Given the description of an element on the screen output the (x, y) to click on. 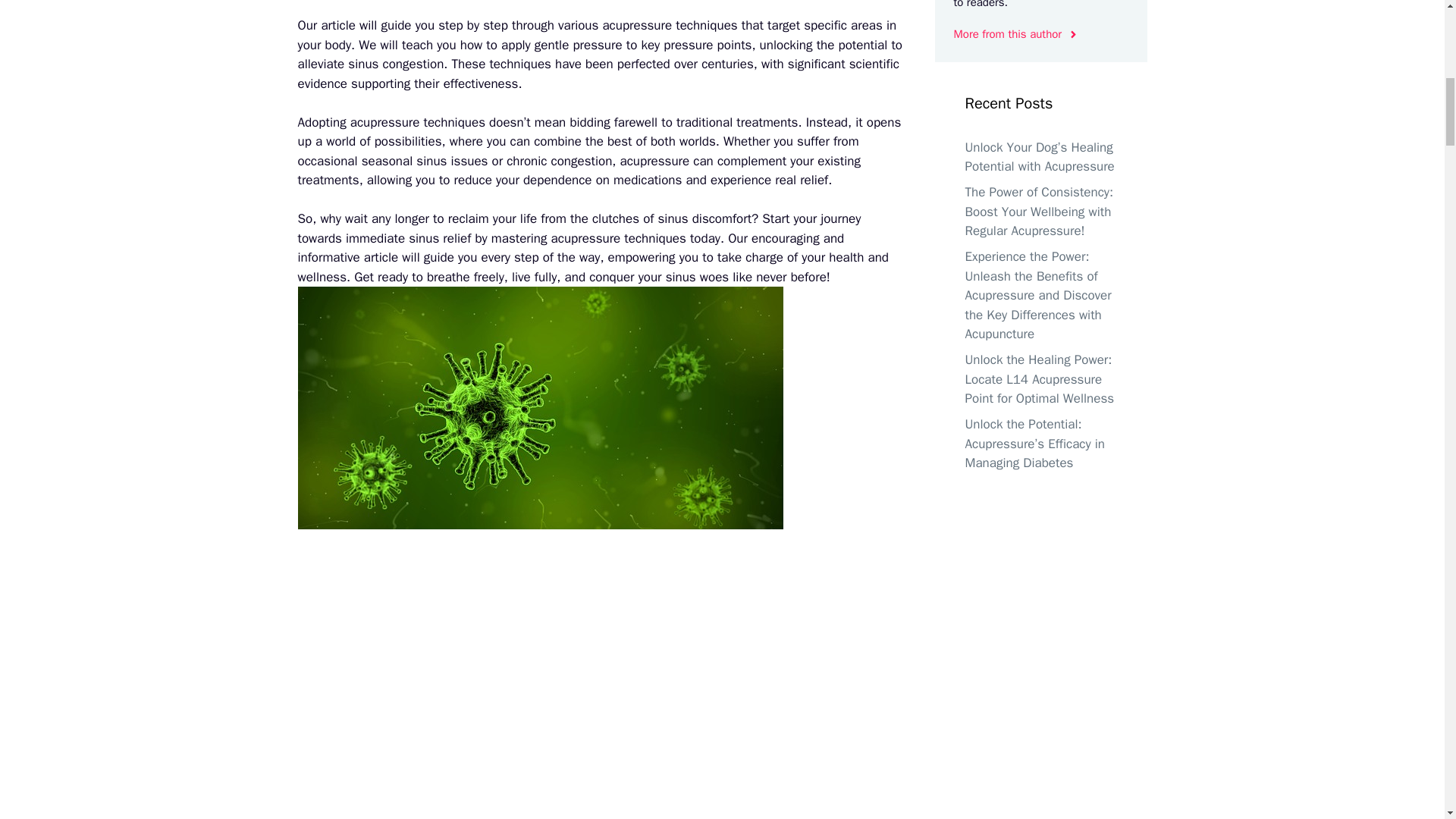
More from this author (1015, 34)
Scroll back to top (1406, 720)
